Given the description of an element on the screen output the (x, y) to click on. 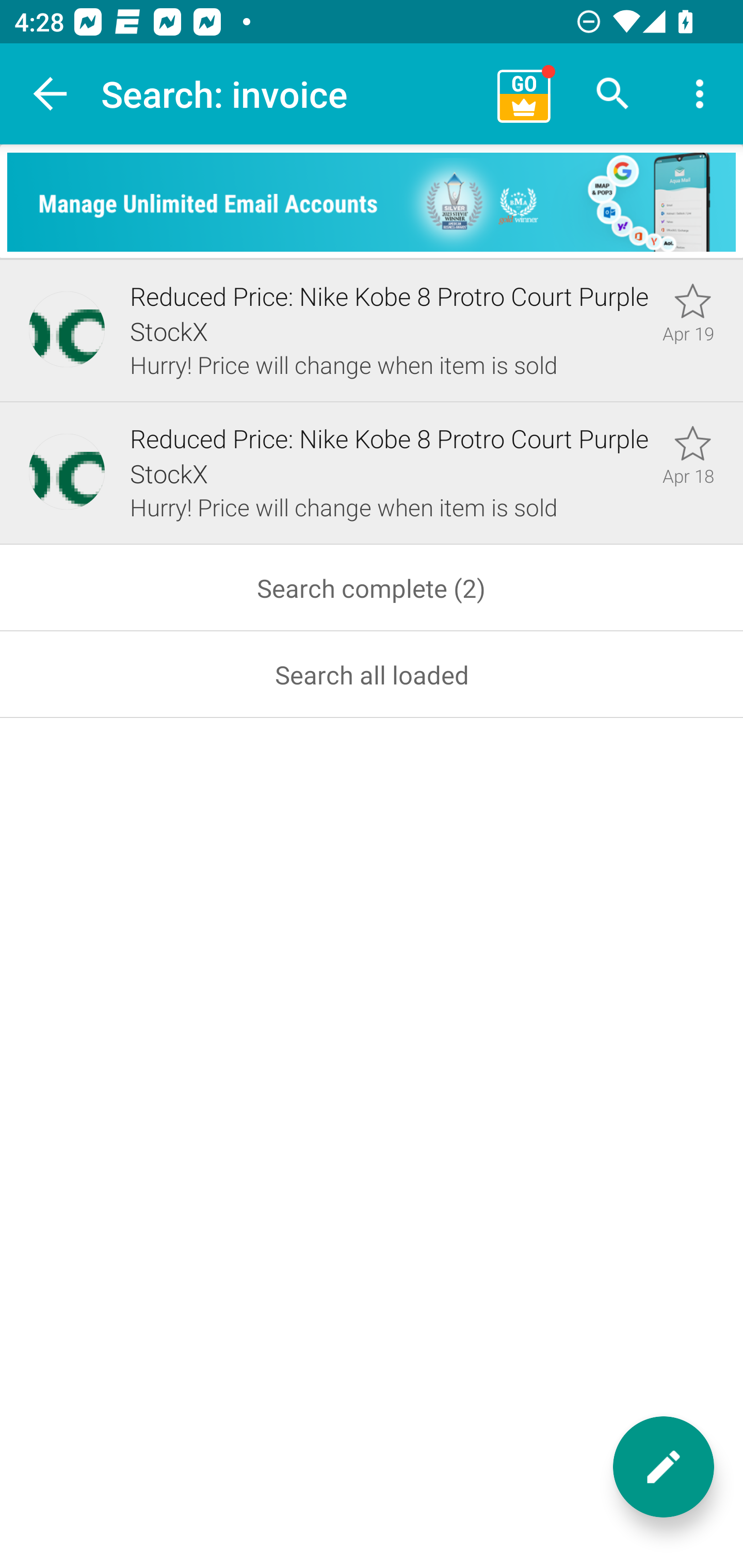
Navigate up (50, 93)
Search (612, 93)
More options (699, 93)
Search complete (2) (371, 587)
Search all loaded (371, 674)
New message (663, 1466)
